Given the description of an element on the screen output the (x, y) to click on. 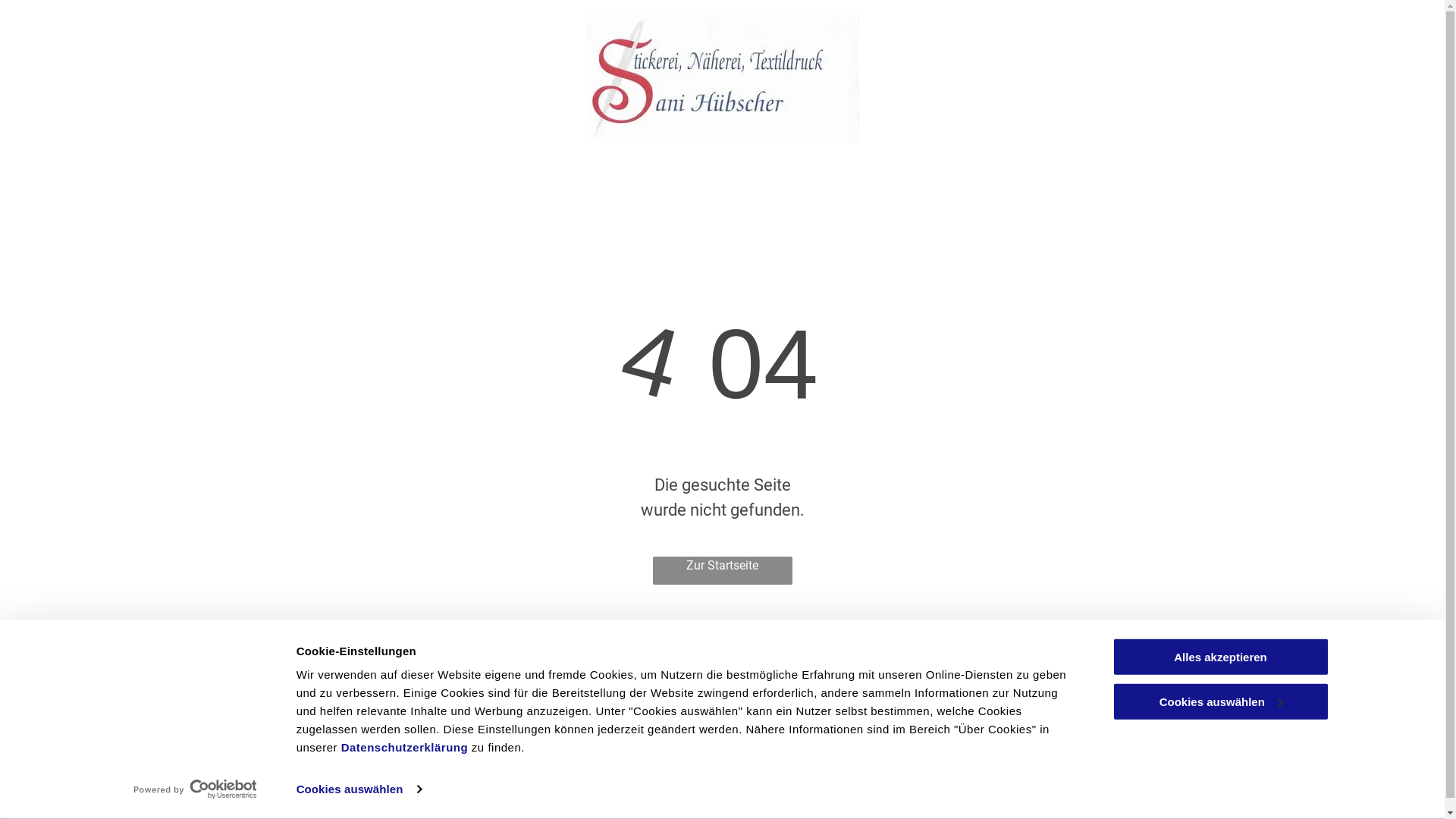
Impressum Element type: text (1124, 731)
sani.huebscher@bluewin.ch Element type: text (586, 752)
Zur Startseite Element type: text (721, 570)
Alles akzeptieren Element type: text (1219, 656)
079 481 96 28 Element type: text (550, 713)
